Given the description of an element on the screen output the (x, y) to click on. 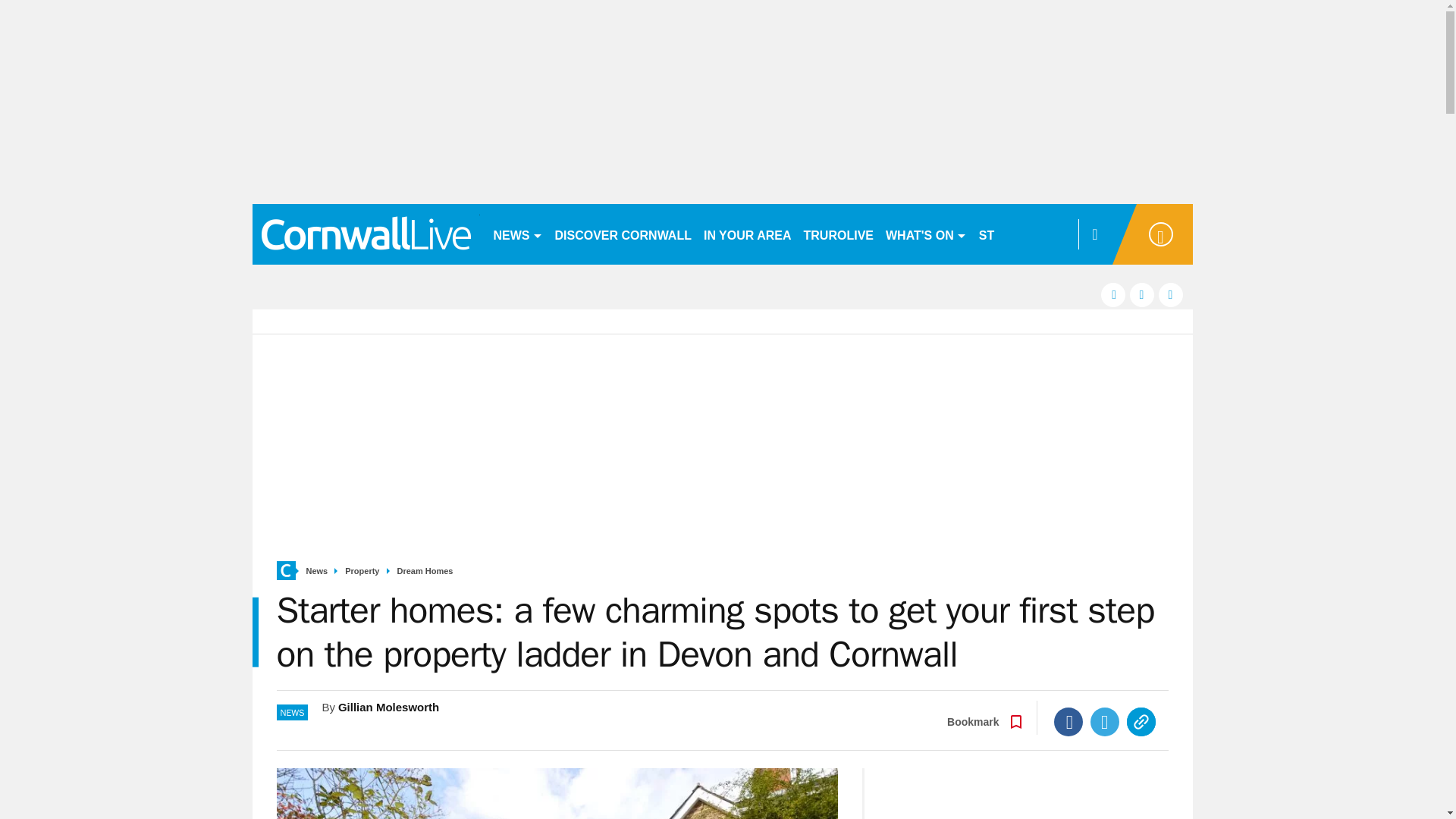
instagram (1170, 294)
TRUROLIVE (838, 233)
twitter (1141, 294)
NEWS (517, 233)
Facebook (1068, 721)
Twitter (1104, 721)
DISCOVER CORNWALL (622, 233)
ST AUSTELL (1015, 233)
IN YOUR AREA (747, 233)
cornwalllive (365, 233)
